Given the description of an element on the screen output the (x, y) to click on. 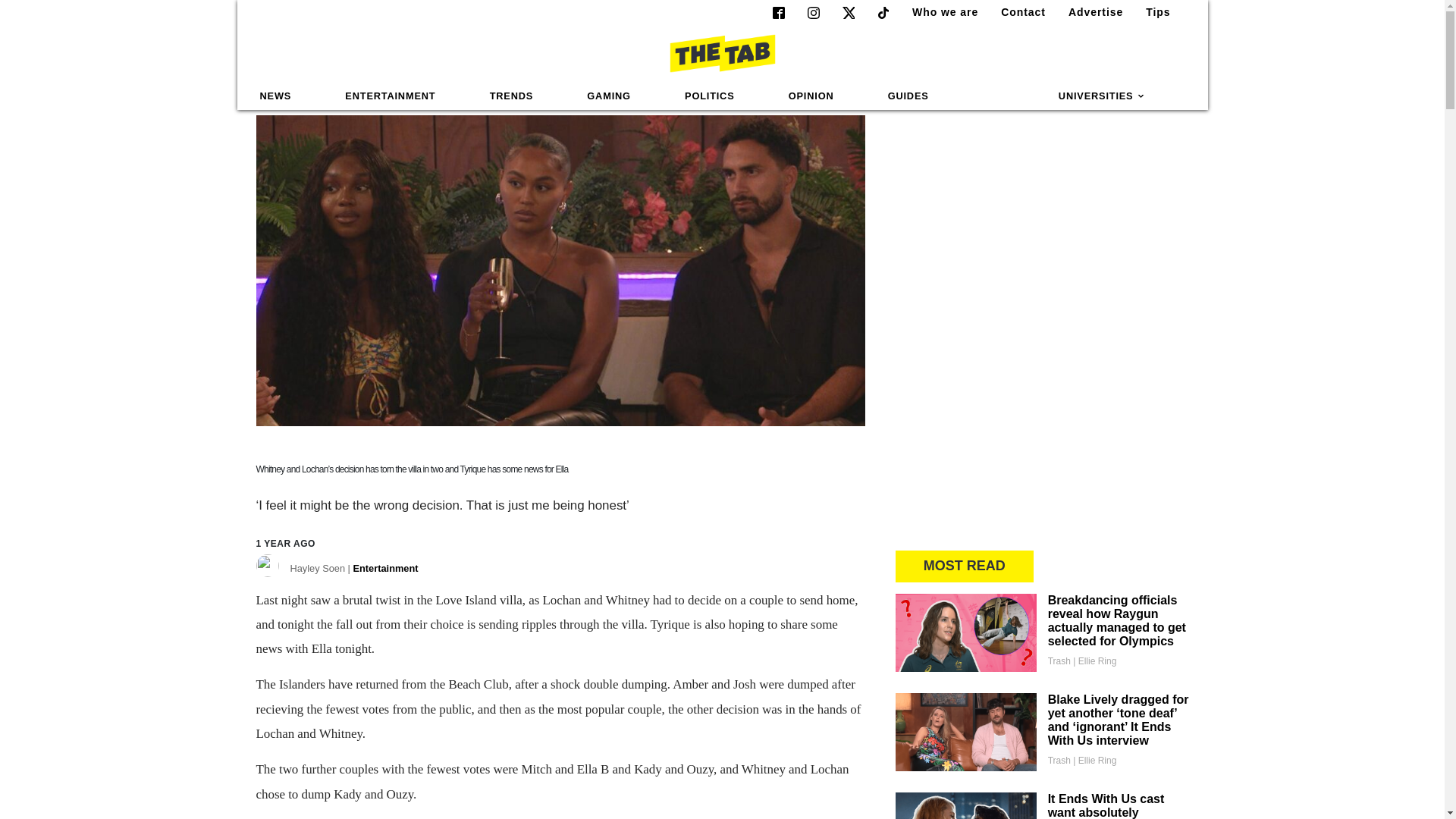
Who we are (938, 11)
GUIDES (908, 96)
UNIVERSITIES (1101, 96)
Tips (1152, 11)
POLITICS (708, 96)
Contact (1016, 11)
Posts by Hayley Soen (353, 571)
GAMING (608, 96)
ENTERTAINMENT (389, 96)
TRENDS (511, 96)
